Given the description of an element on the screen output the (x, y) to click on. 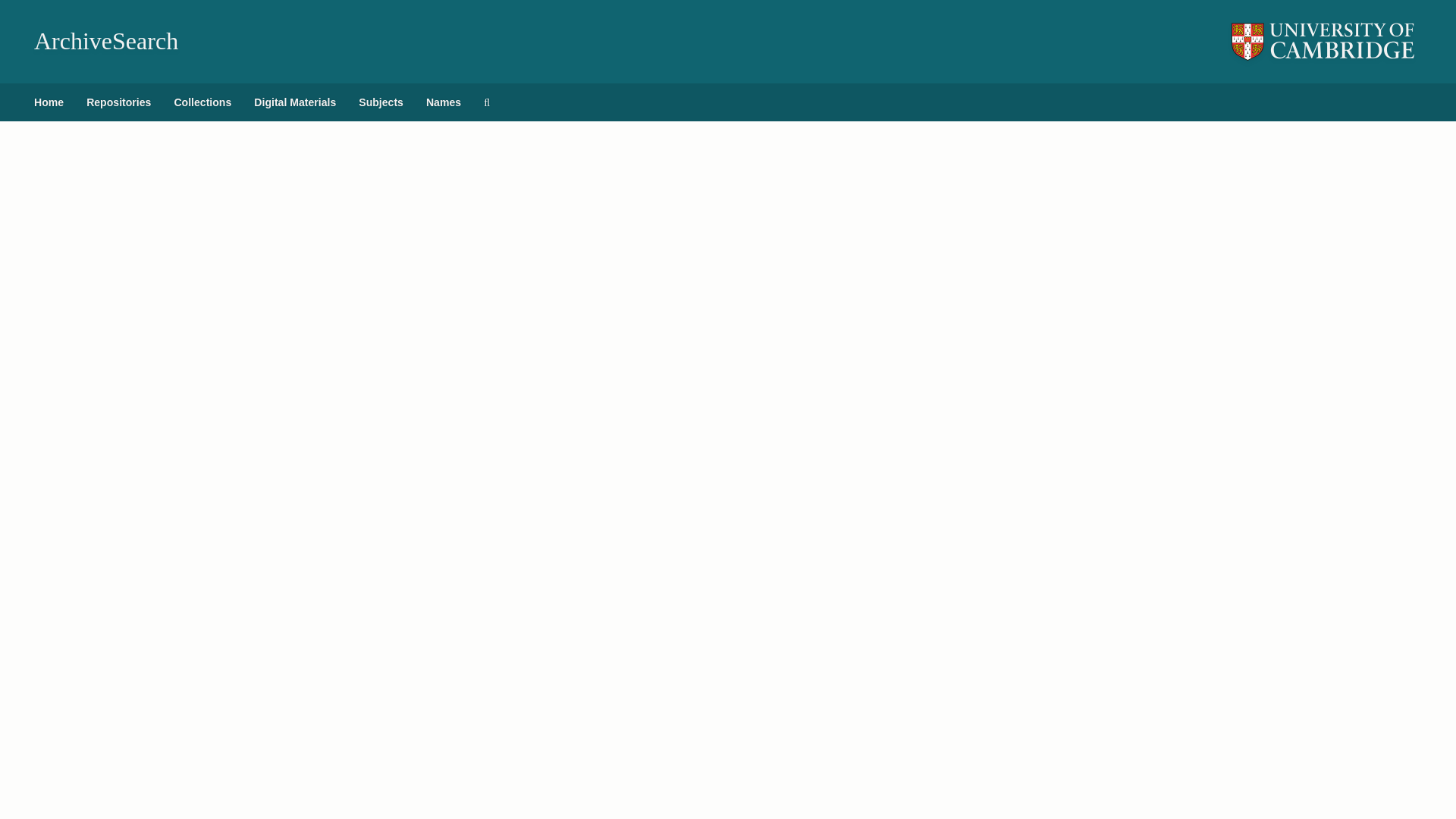
Digital Materials (295, 102)
Repositories (118, 102)
Subjects (380, 102)
Names (442, 102)
Collections (202, 102)
ArchiveSearch (105, 40)
Return to the ArchiveSearch homepage (105, 40)
Home (49, 102)
